Given the description of an element on the screen output the (x, y) to click on. 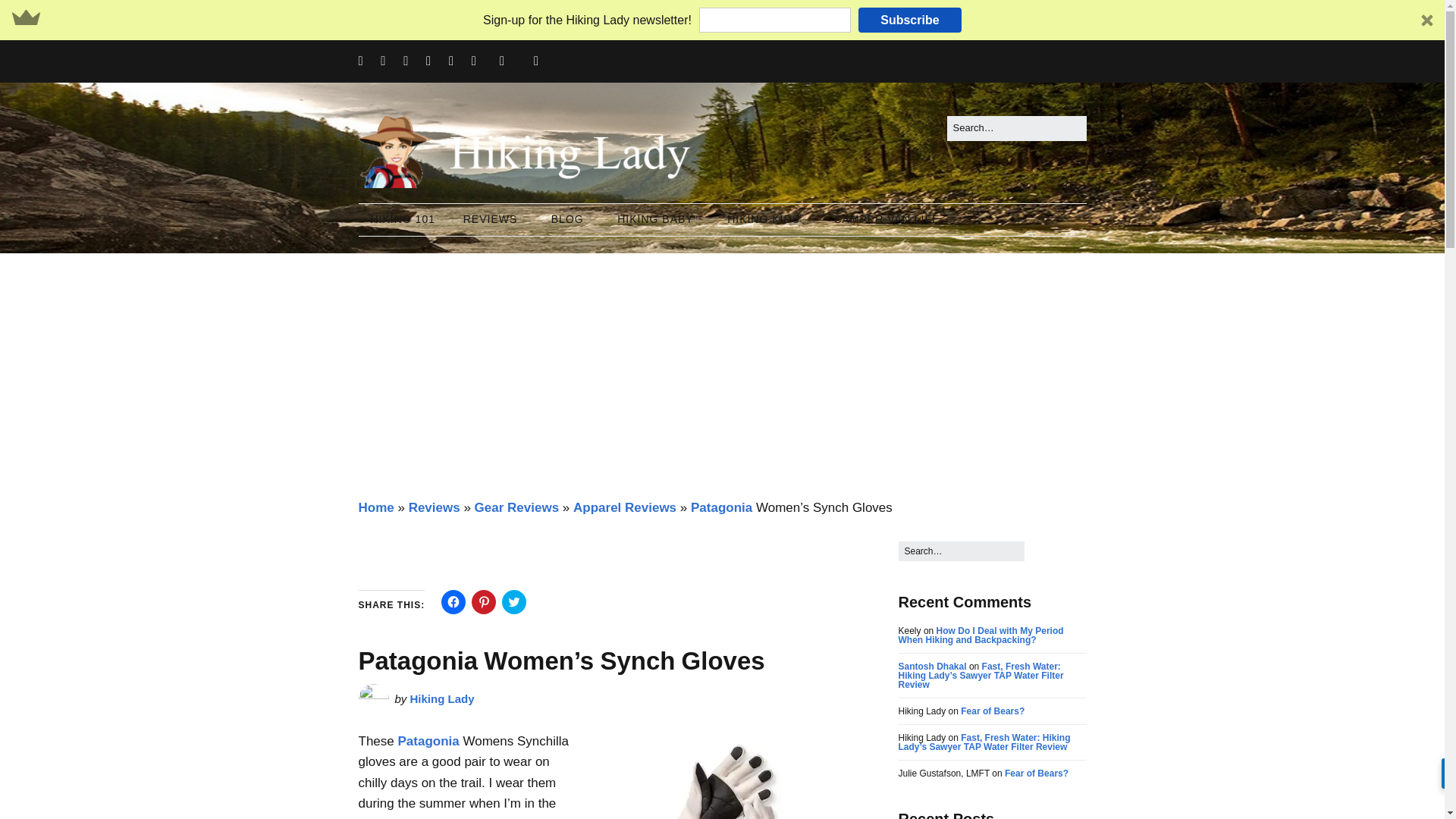
Hiking Lady (442, 698)
Search (29, 15)
Subscribe (909, 19)
Patagonia Women's Synch Gloves (713, 776)
Click to share on Pinterest (483, 601)
Apparel Reviews (625, 507)
Patagonia (721, 507)
Click to share on Facebook (453, 601)
BLOG (570, 219)
Reviews (434, 507)
Press Enter to submit your search (1016, 128)
Gear Reviews (516, 507)
Home (375, 507)
